Given the description of an element on the screen output the (x, y) to click on. 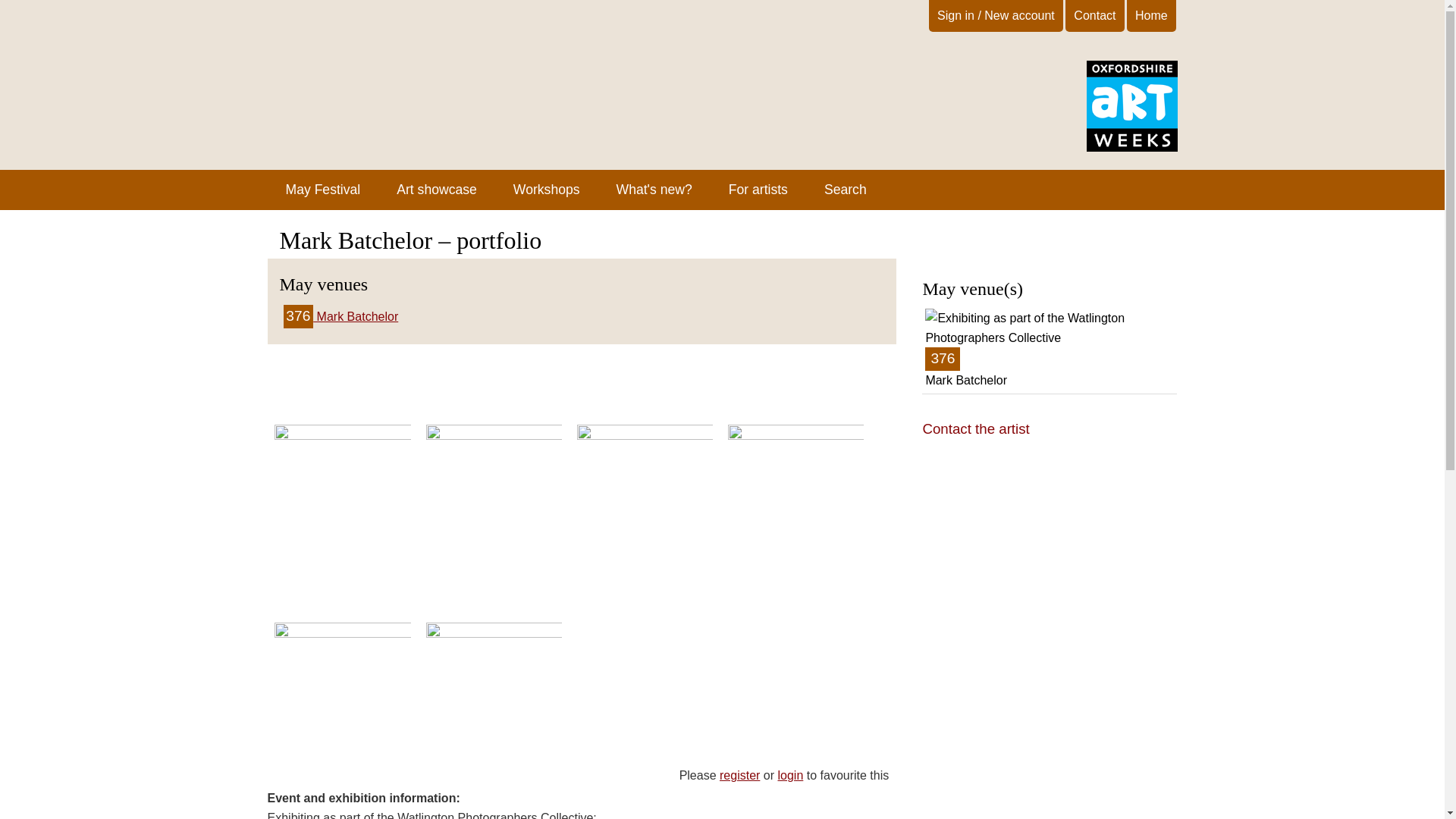
Home (1048, 349)
Workshops (1131, 146)
Home (546, 189)
login (1151, 15)
May Festival (790, 775)
For artists (322, 189)
376 Mark Batchelor (758, 189)
register (340, 316)
Search (739, 775)
